Given the description of an element on the screen output the (x, y) to click on. 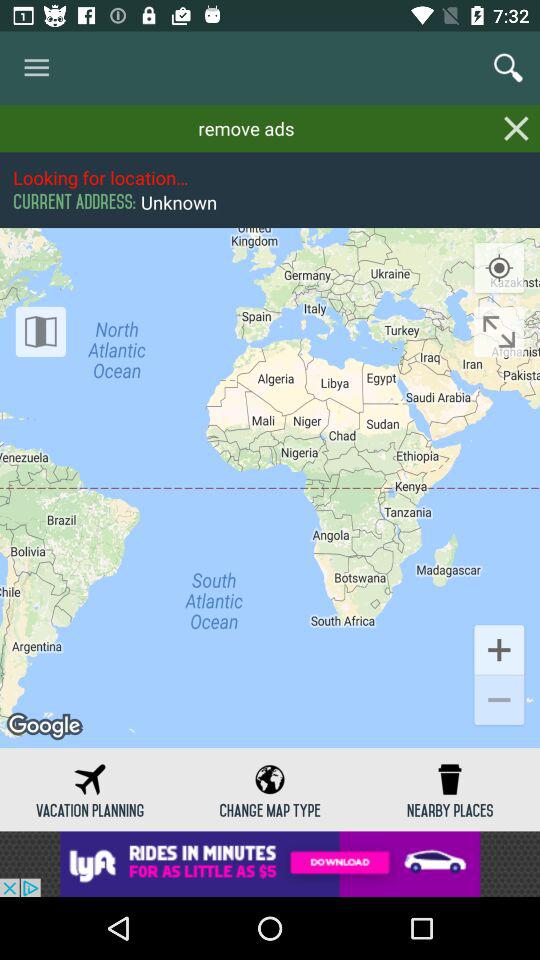
search (508, 67)
